Given the description of an element on the screen output the (x, y) to click on. 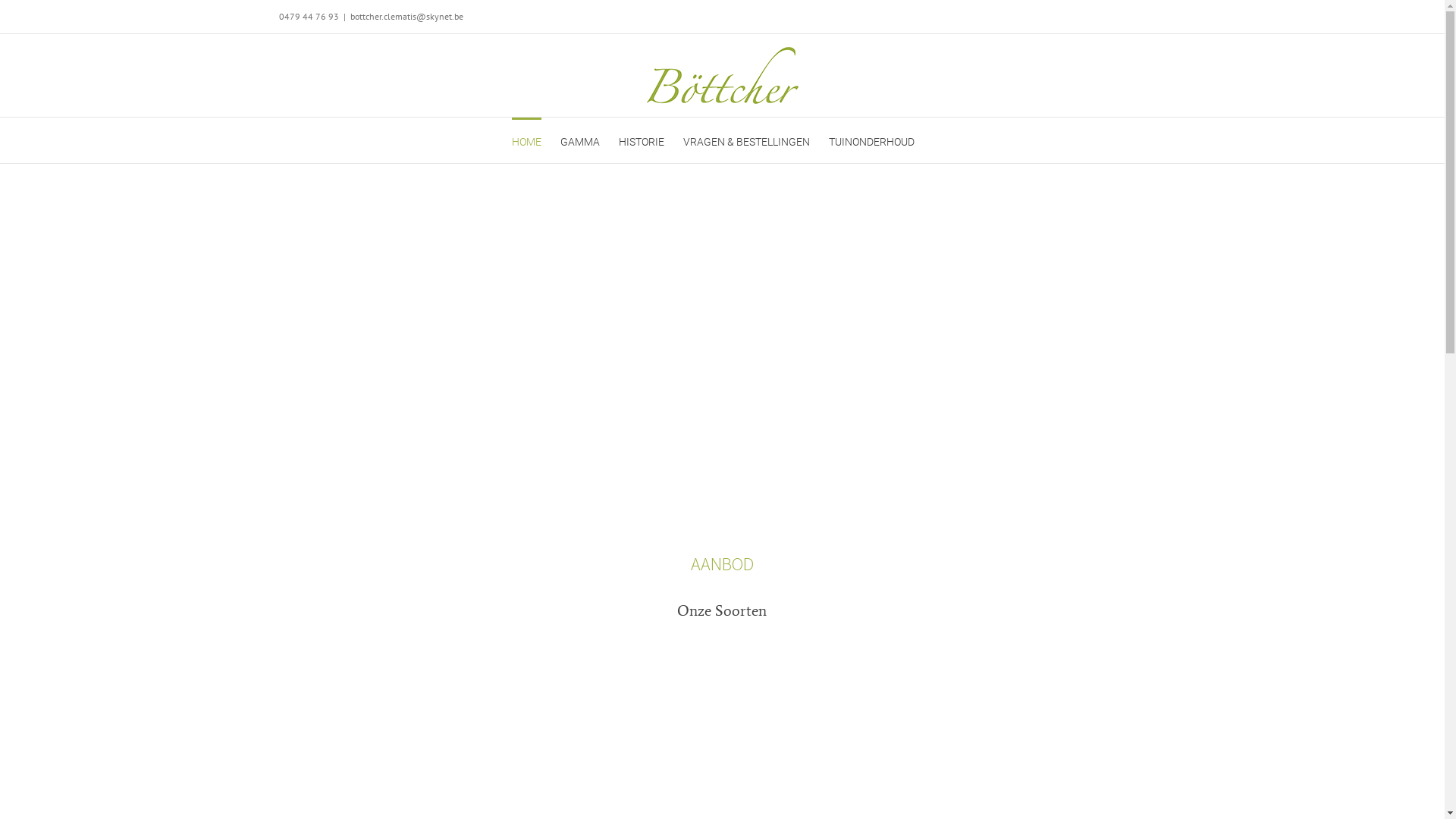
GAMMA Element type: text (579, 140)
VRAGEN & BESTELLINGEN Element type: text (745, 140)
bottcher.clematis@skynet.be Element type: text (406, 15)
HISTORIE Element type: text (641, 140)
TUINONDERHOUD Element type: text (870, 140)
HOME Element type: text (525, 140)
